Given the description of an element on the screen output the (x, y) to click on. 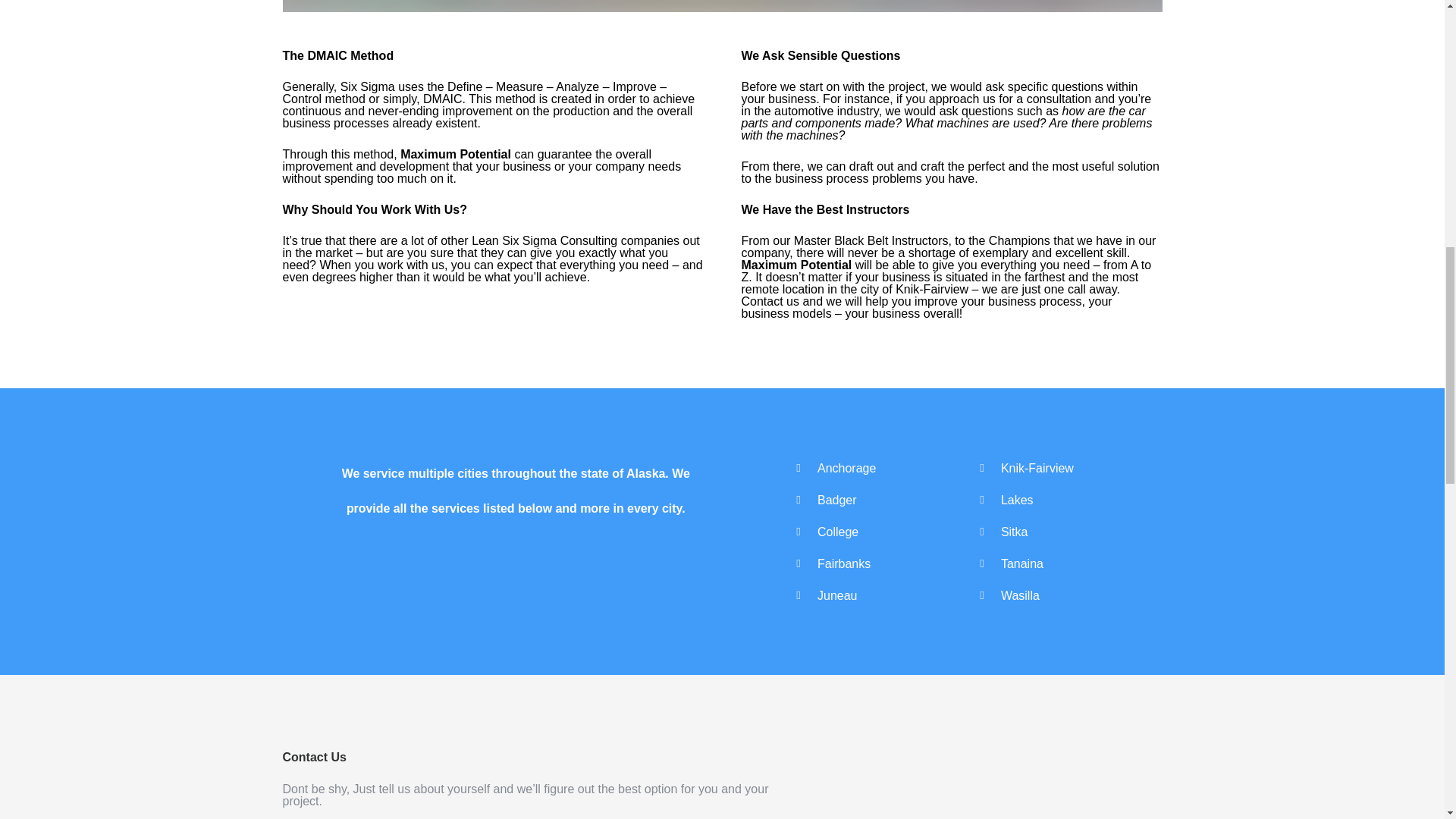
Lakes (1017, 499)
Wasilla (1020, 594)
Anchorage (846, 467)
Knik-Fairview (1037, 467)
Fairbanks (843, 562)
Badger (836, 499)
College (837, 530)
Juneau (836, 594)
Sitka (1014, 530)
Tanaina (1022, 562)
